Given the description of an element on the screen output the (x, y) to click on. 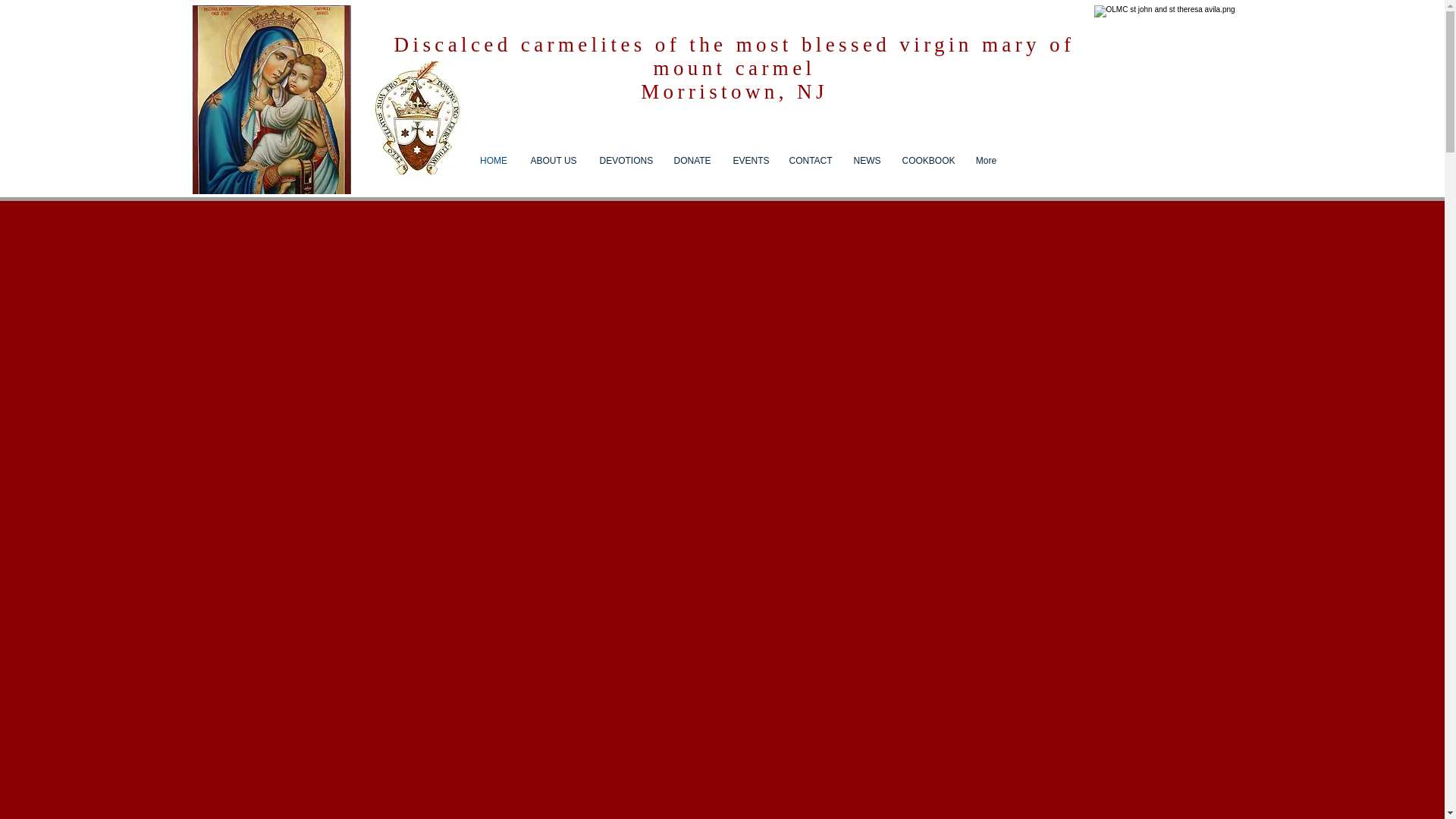
CONTACT (810, 160)
NEWS (865, 160)
HOME (493, 160)
DONATE (692, 160)
DEVOTIONS (625, 160)
ABOUT US (553, 160)
COOKBOOK (925, 160)
EVENTS (749, 160)
